Given the description of an element on the screen output the (x, y) to click on. 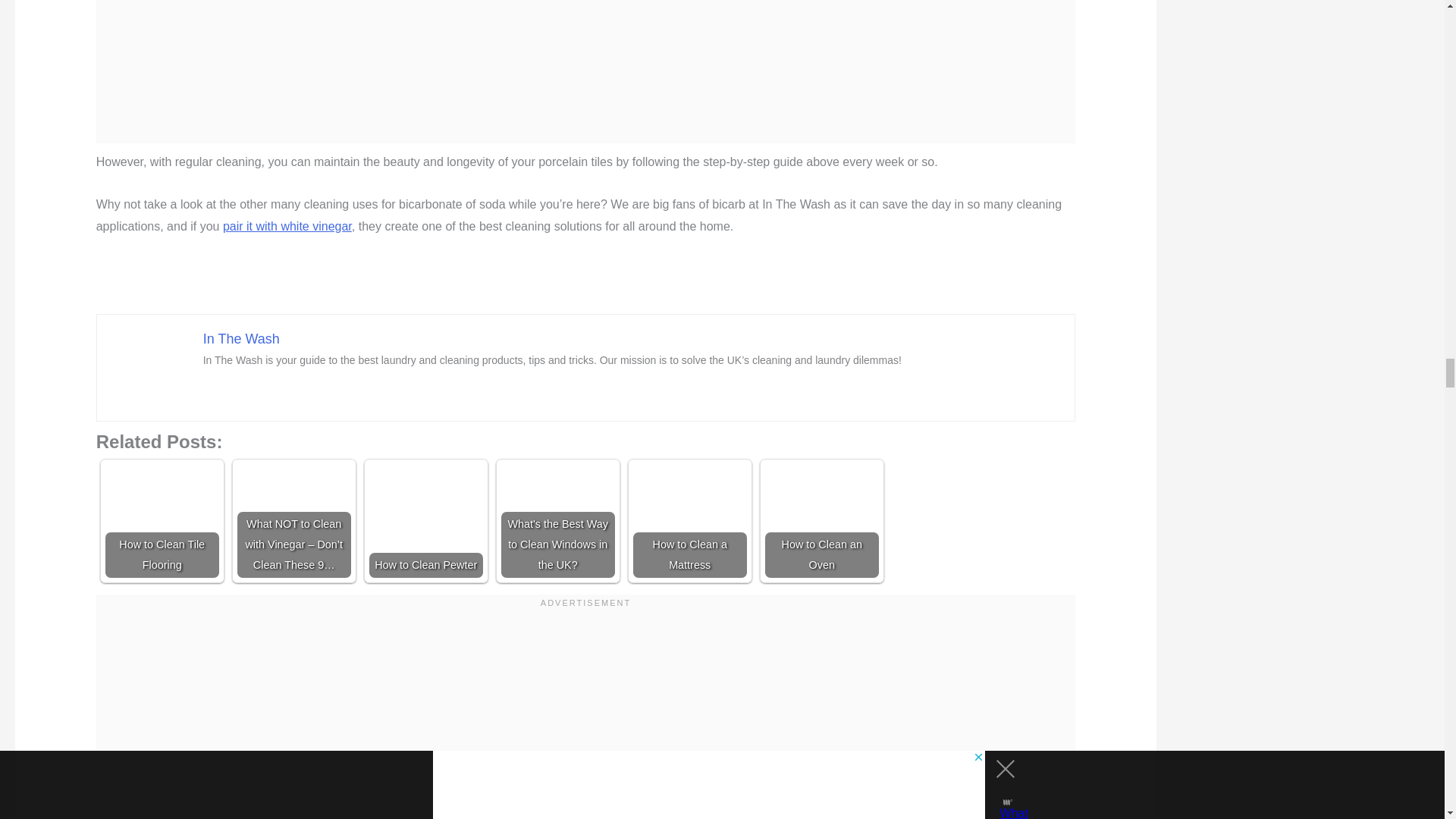
How to Clean a Mattress (689, 521)
In The Wash (241, 338)
What's the Best Way to Clean Windows in the UK? (557, 521)
pair it with white vinegar (287, 226)
How to Clean an Oven (822, 521)
How to Clean Pewter (426, 521)
How to Clean Tile Flooring (161, 521)
